Given the description of an element on the screen output the (x, y) to click on. 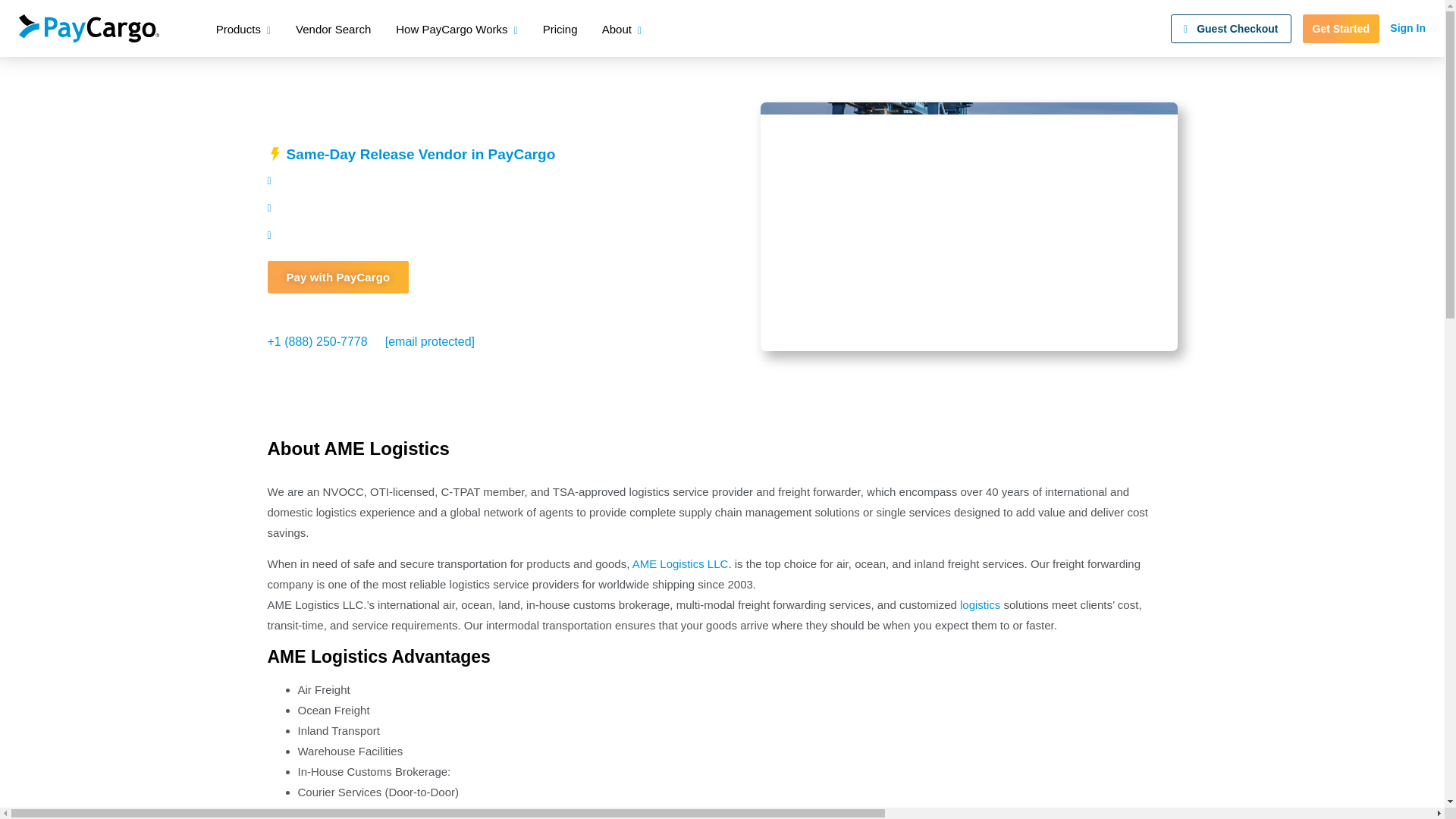
Vendor Search (333, 29)
Sign In (1407, 28)
Pricing  (561, 29)
Same-Day Release Vendor in PayCargo (421, 154)
Get Started (1340, 27)
Guest Checkout (1230, 27)
